Given the description of an element on the screen output the (x, y) to click on. 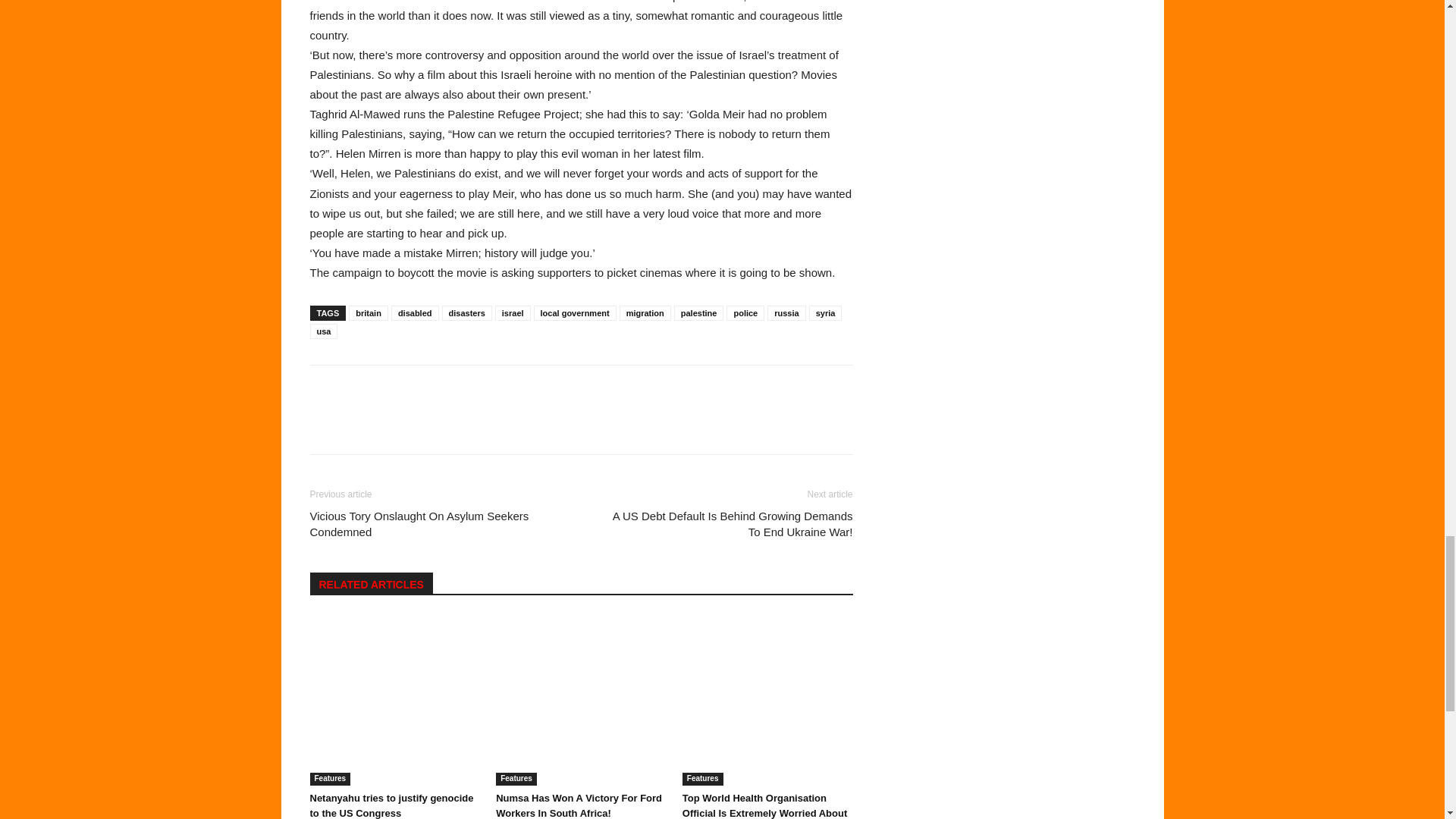
bottomFacebookLike (422, 389)
